Given the description of an element on the screen output the (x, y) to click on. 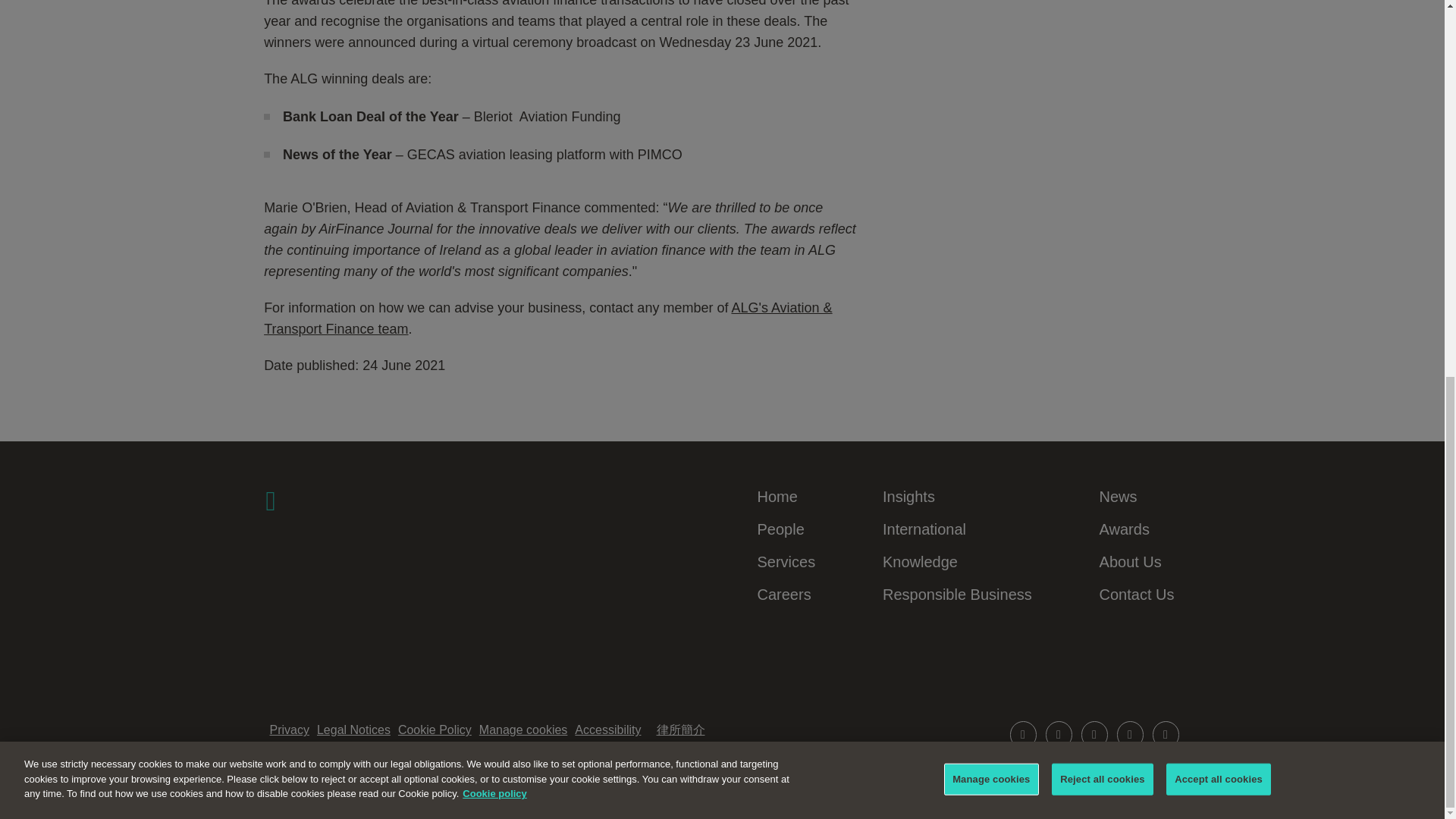
Back to top (1147, 767)
Back to top (1147, 768)
